Given the description of an element on the screen output the (x, y) to click on. 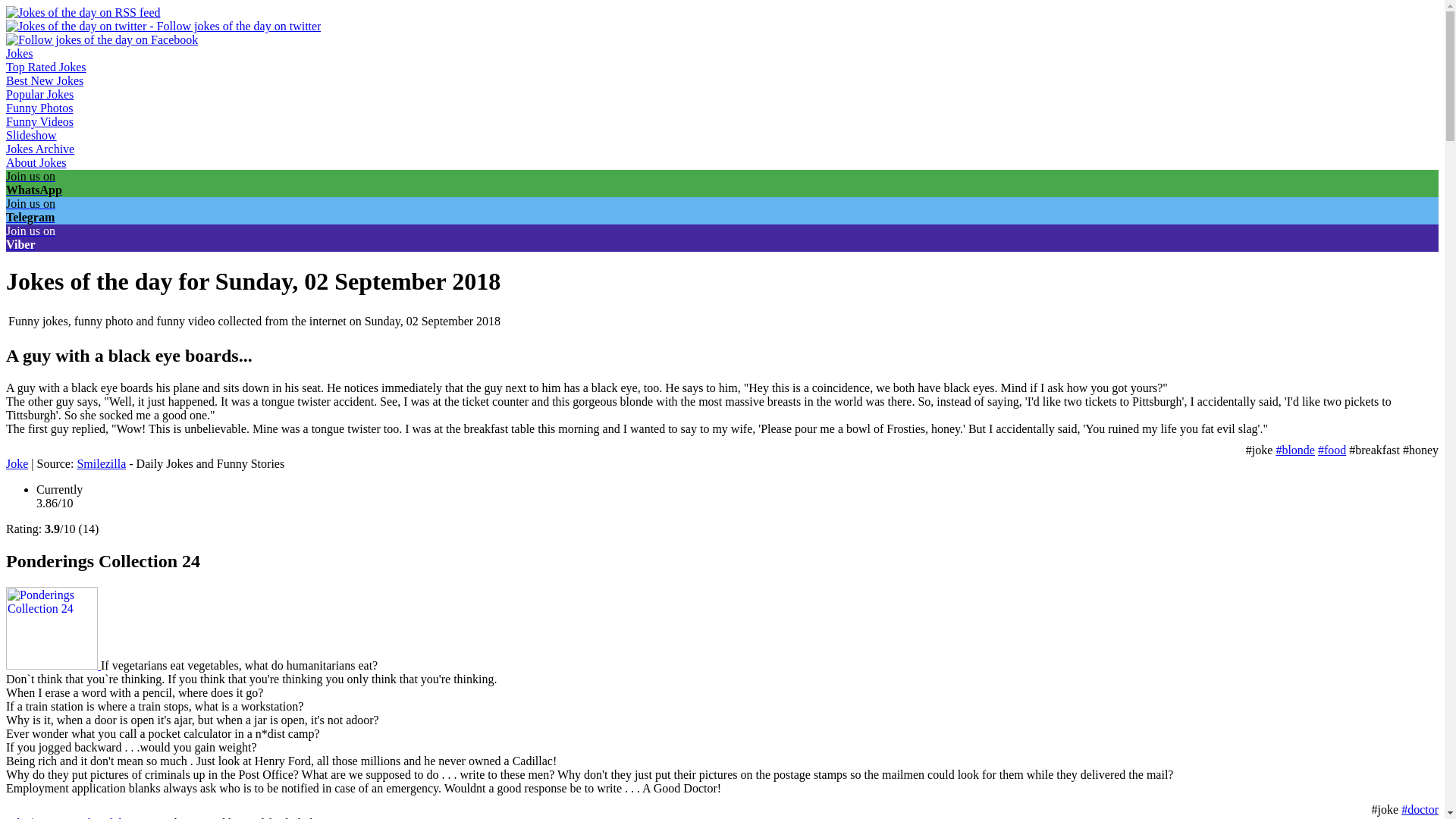
Jokes (19, 52)
Smilezilla (101, 463)
Popular Jokes (39, 93)
Best New Jokes (43, 80)
Jokes Archive (39, 148)
Joke (16, 817)
The Best Jokes - top rated jokes (45, 66)
Top Rated Jokes (45, 66)
Slideshow (30, 134)
Slideshow (30, 134)
Follow jokes of the day on Facebook (101, 39)
A guy with a black eye boards... (16, 463)
Jokes of the day on RSS feed (82, 11)
Funny Photos (38, 107)
Jokes Archive (39, 148)
